Given the description of an element on the screen output the (x, y) to click on. 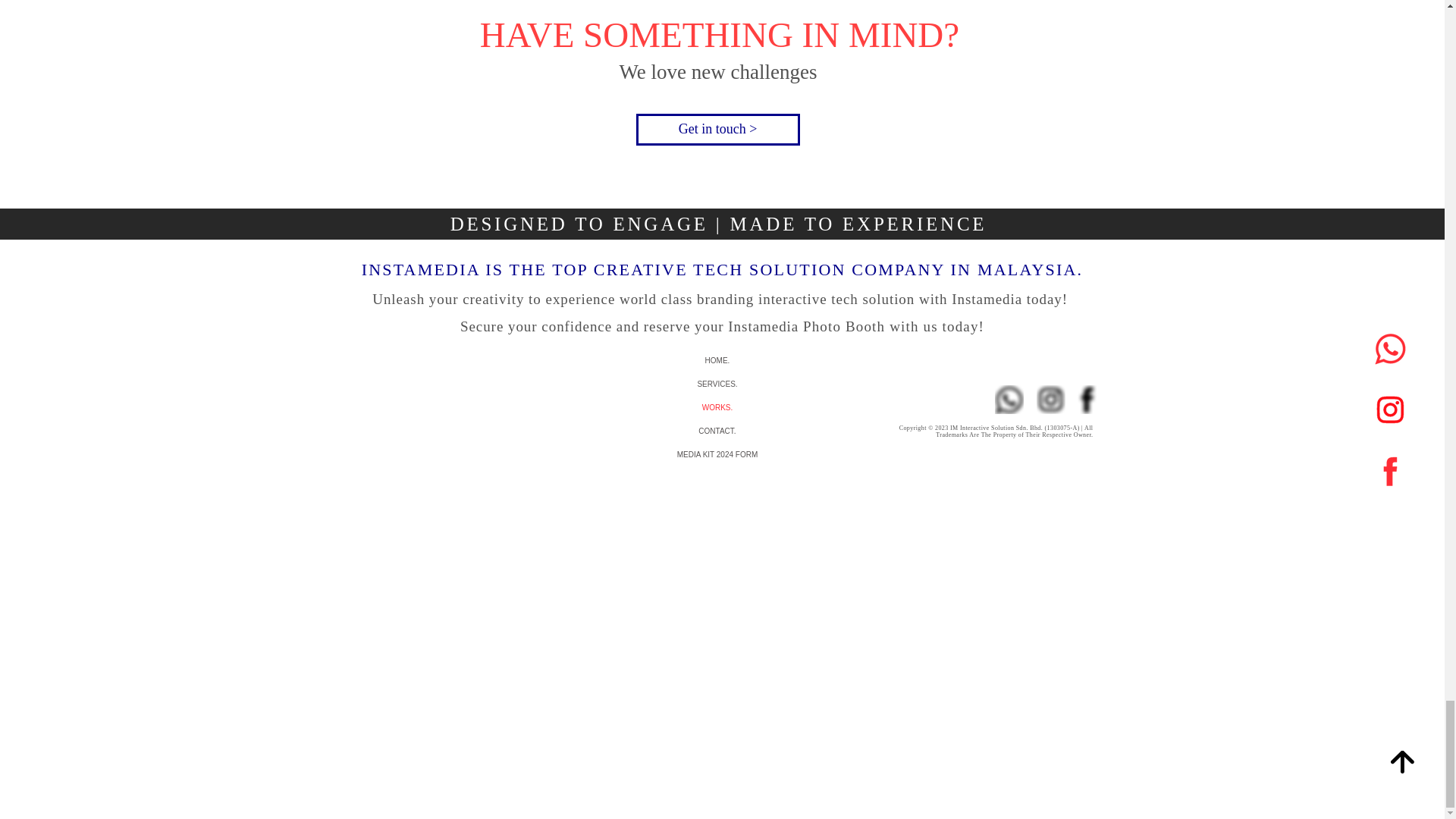
HOME. (717, 360)
